Given the description of an element on the screen output the (x, y) to click on. 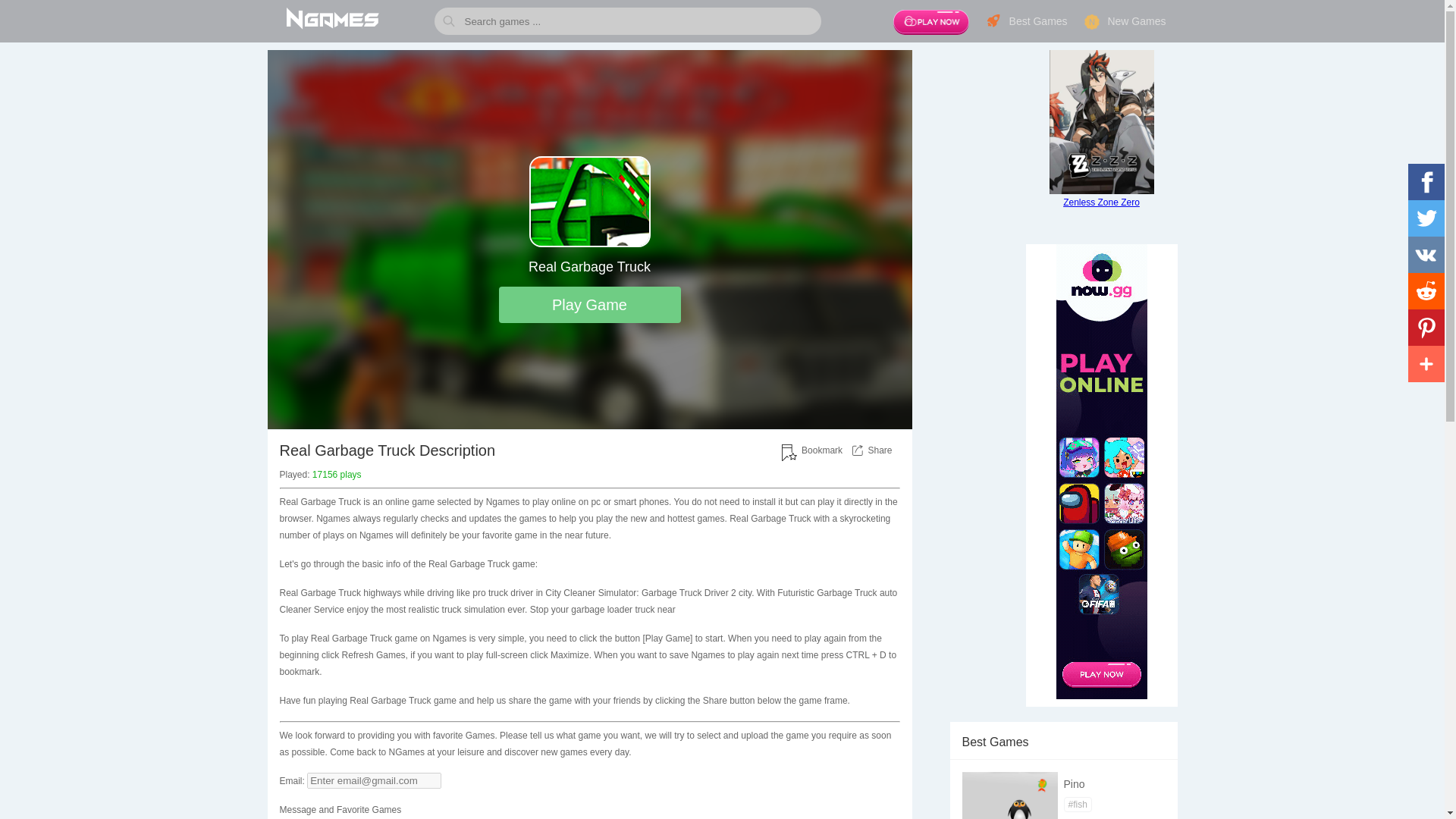
Play Real Garbage Truck (590, 304)
Bookmark (822, 450)
Best Games (1025, 21)
New Games (1124, 21)
Play Game (590, 304)
Share (879, 450)
